Given the description of an element on the screen output the (x, y) to click on. 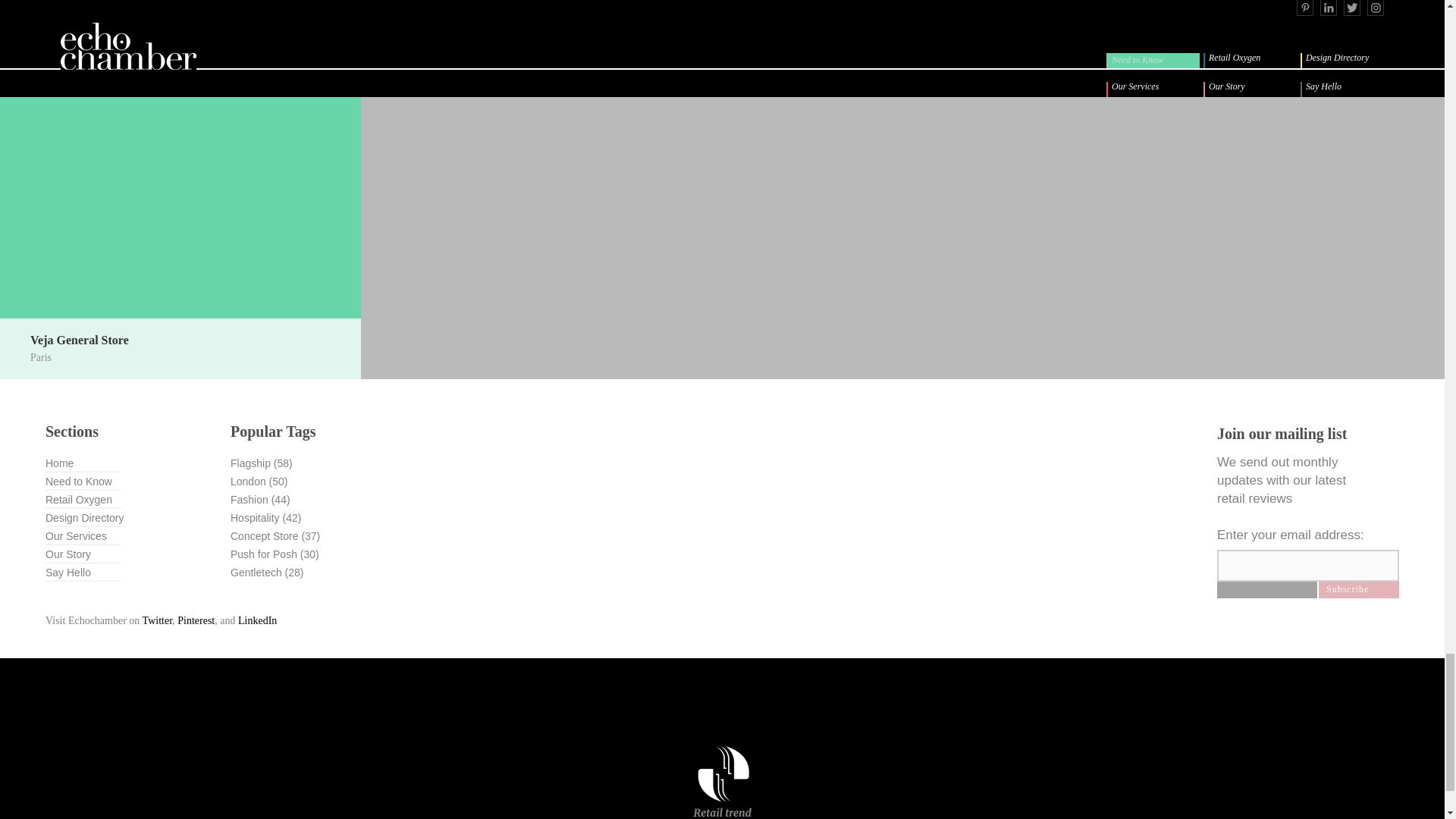
Subscribe (1359, 589)
